Given the description of an element on the screen output the (x, y) to click on. 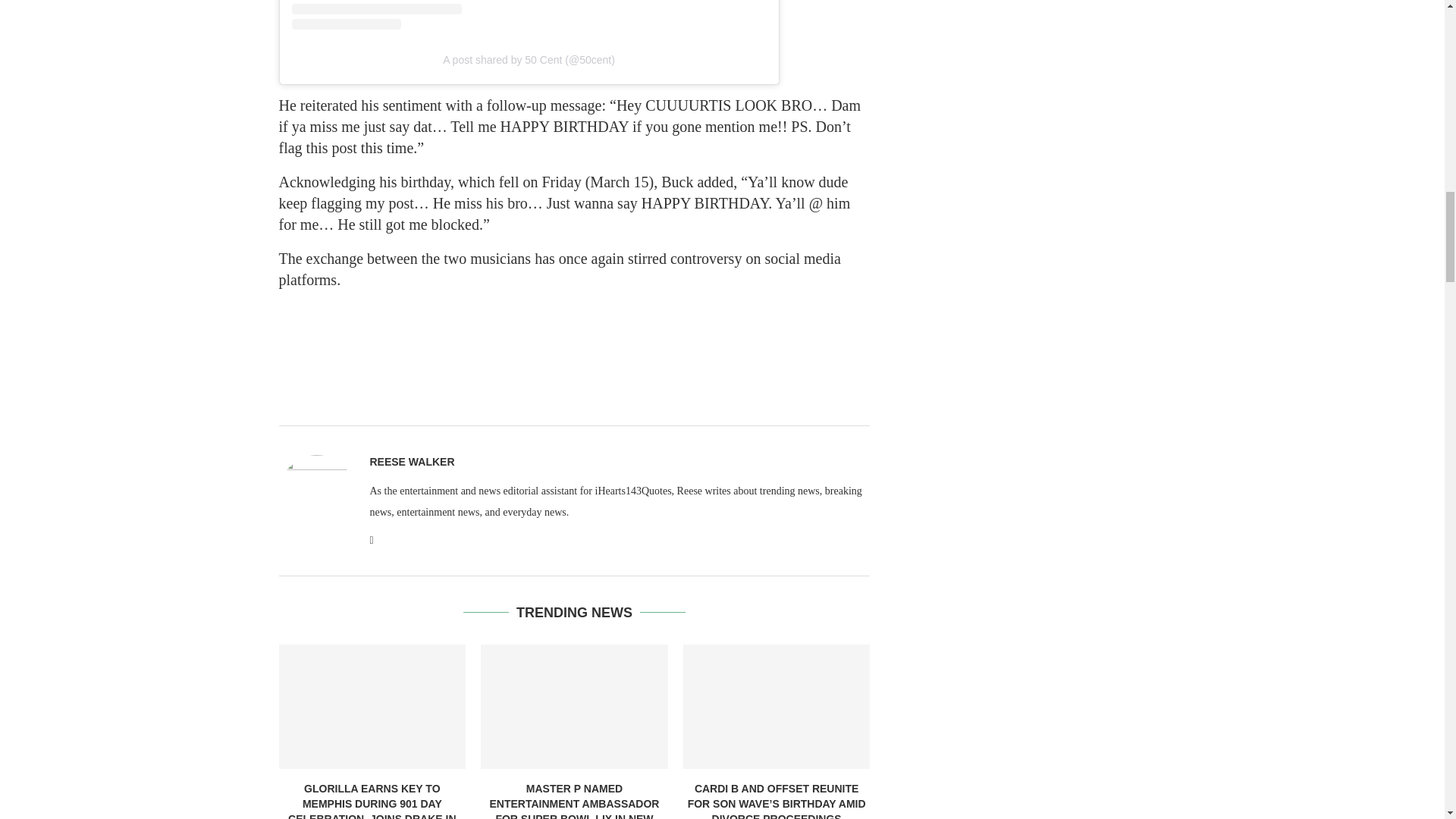
Author Reese Walker (411, 462)
